Given the description of an element on the screen output the (x, y) to click on. 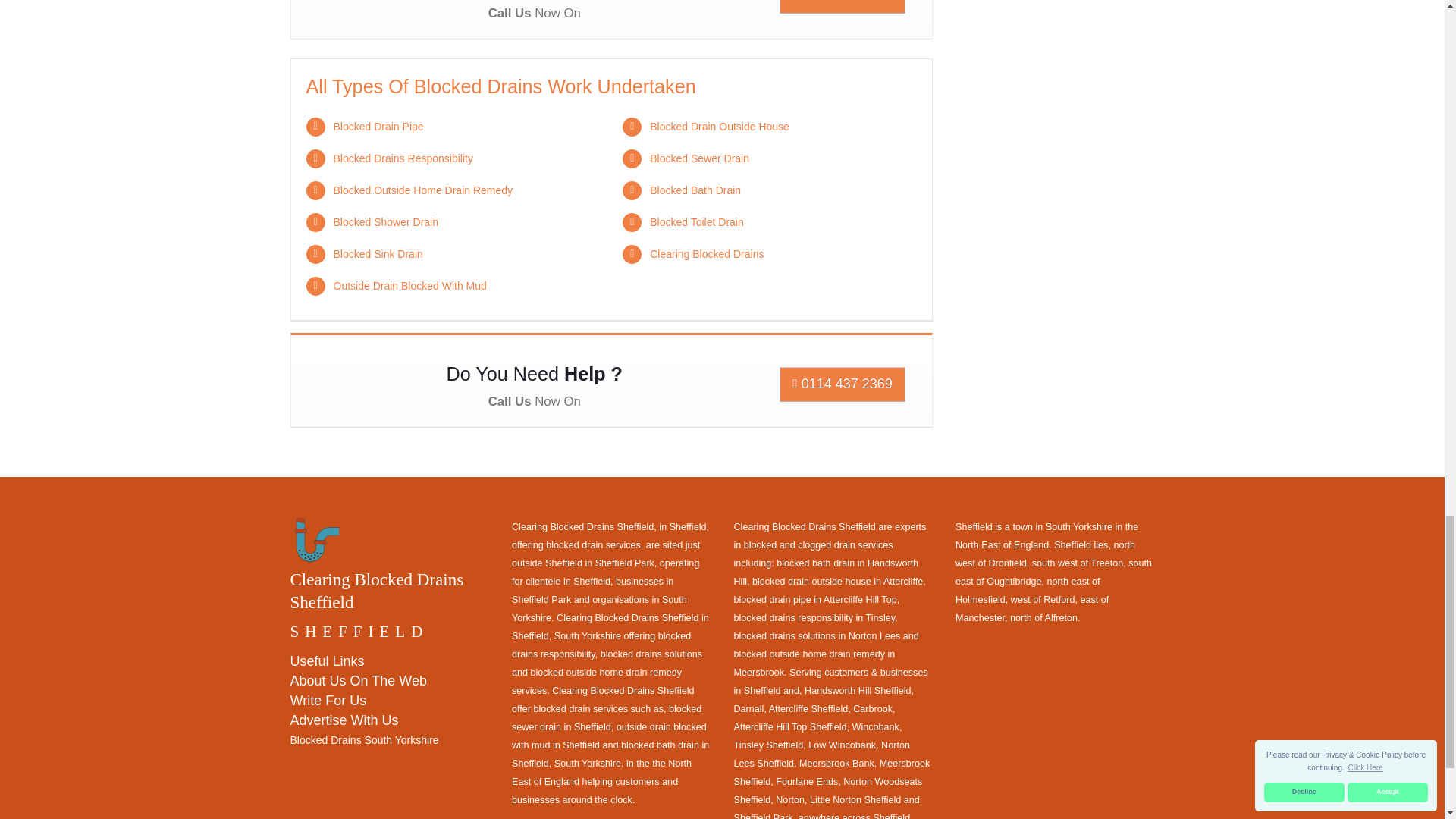
Outside Drain Blocked With Mud (409, 285)
Clearing Blocked Drains (705, 254)
Blocked Outside Home Drain Remedy (423, 190)
Blocked Drain Pipe (378, 126)
Blocked Sewer Drain (699, 158)
Blocked Drain Outside House (719, 126)
Blocked Sink Drain (378, 254)
Blocked Bath Drain (695, 190)
Blocked Shower Drain (386, 222)
Blocked Drains Responsibility (403, 158)
